Given the description of an element on the screen output the (x, y) to click on. 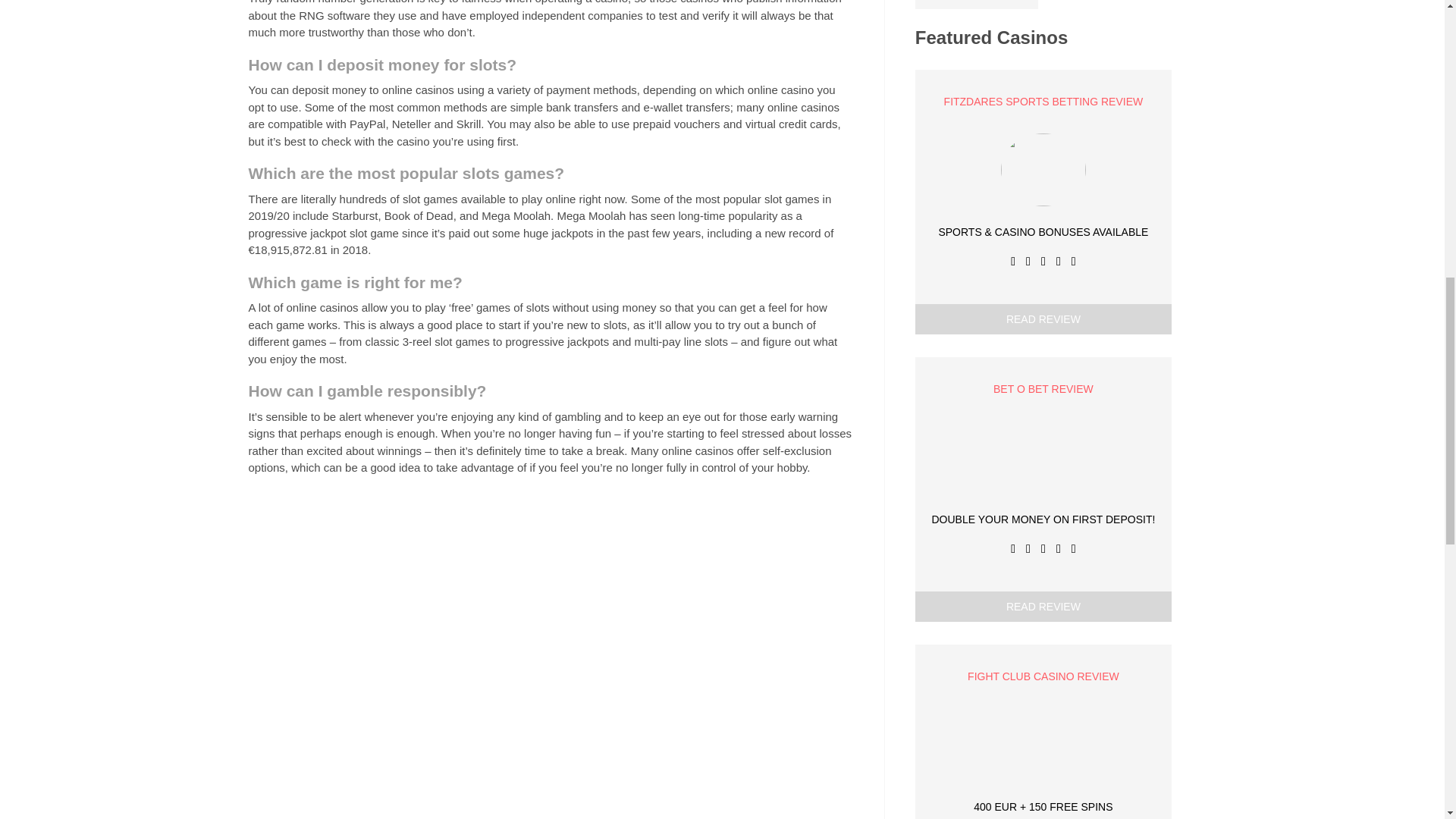
BET O BET REVIEW (1043, 388)
READ REVIEW (1043, 318)
FIGHT CLUB CASINO REVIEW (1043, 676)
READ REVIEW (1043, 606)
Superman (976, 4)
FITZDARES SPORTS BETTING REVIEW (1043, 101)
Superman (976, 4)
